Given the description of an element on the screen output the (x, y) to click on. 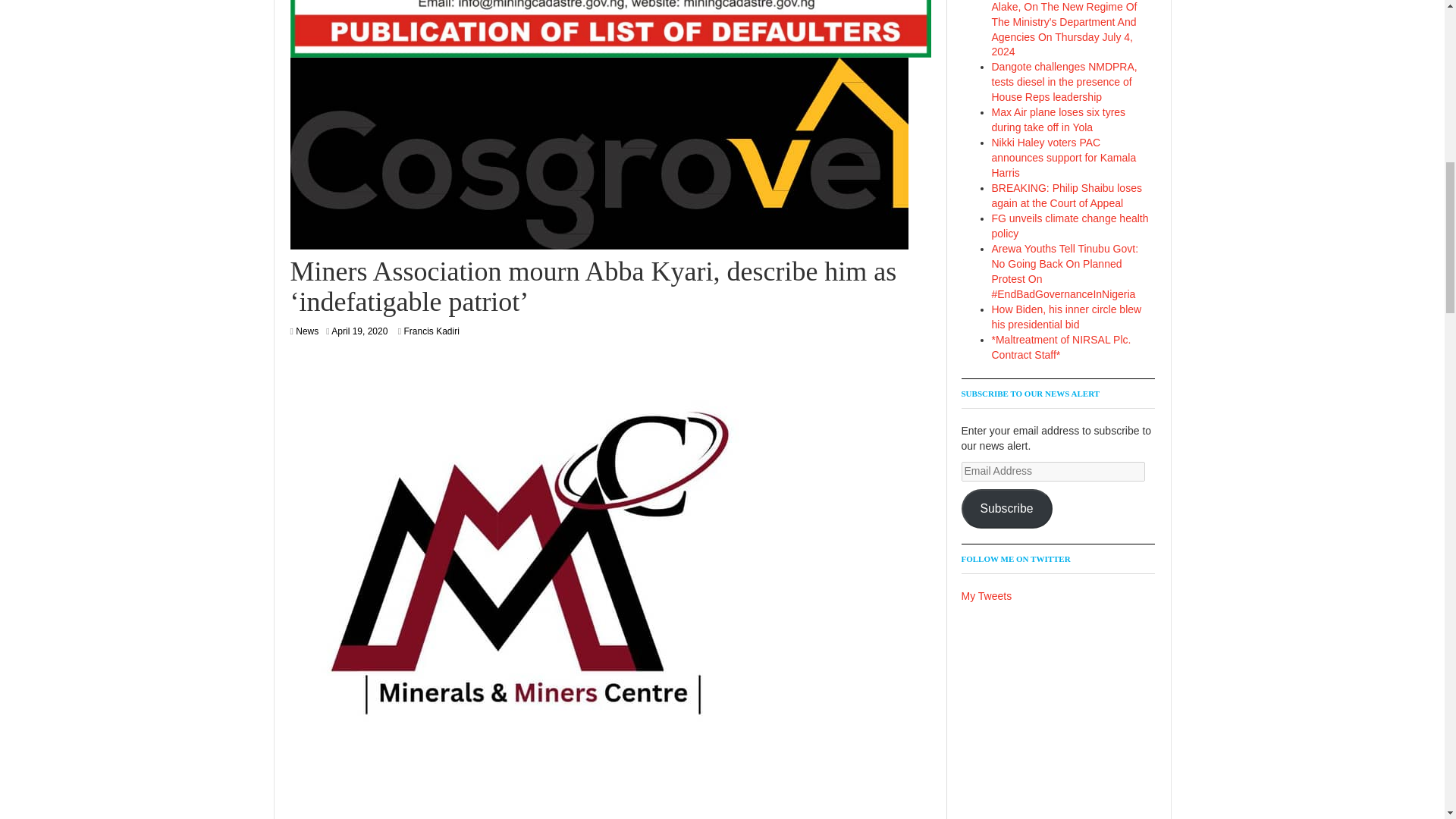
News (306, 330)
Francis Kadiri (430, 330)
